Given the description of an element on the screen output the (x, y) to click on. 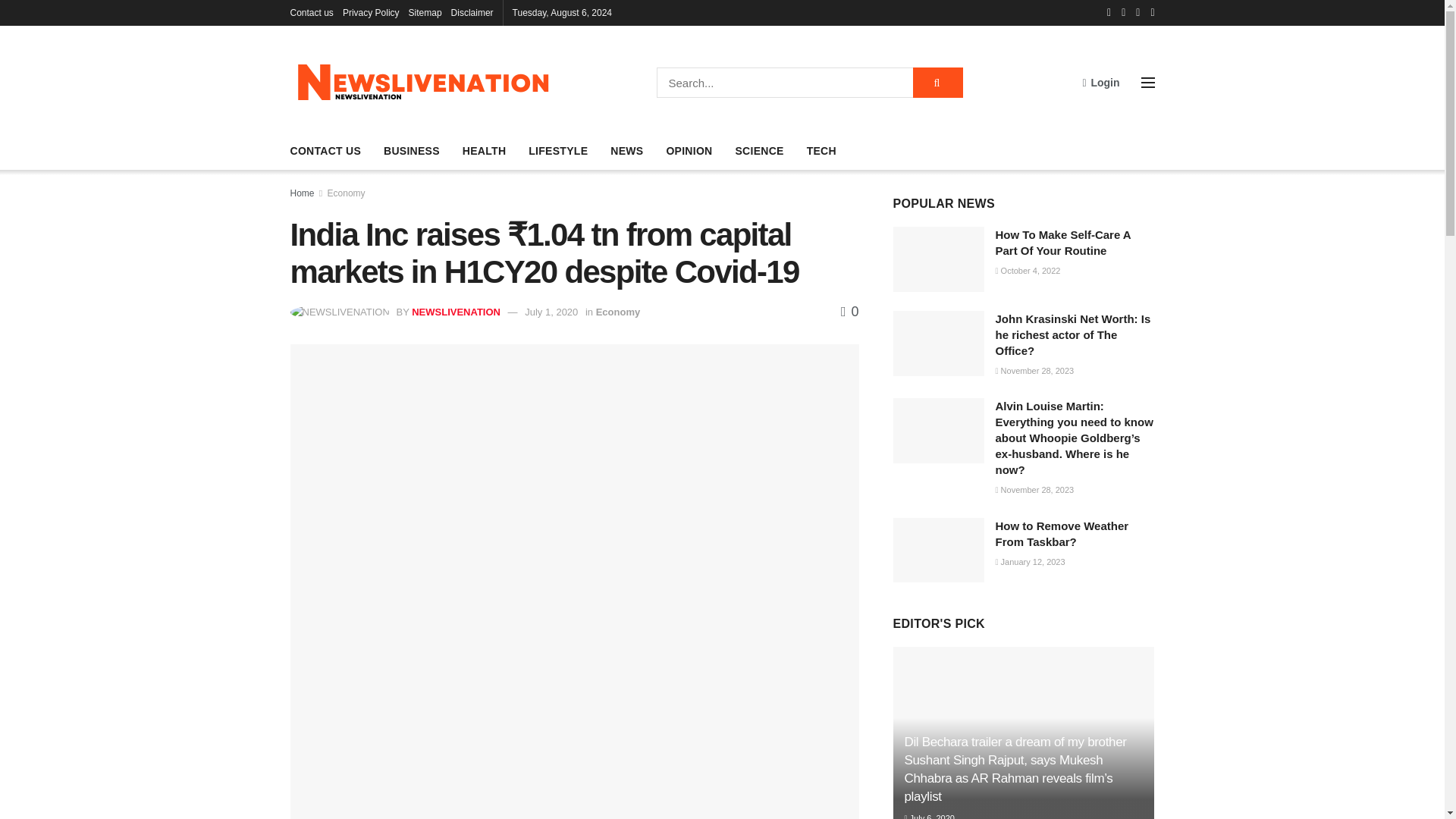
LIFESTYLE (558, 150)
Contact us (311, 12)
Sitemap (425, 12)
BUSINESS (411, 150)
CONTACT US (325, 150)
Privacy Policy (370, 12)
Login (1100, 82)
HEALTH (484, 150)
NEWS (626, 150)
Disclaimer (472, 12)
